Given the description of an element on the screen output the (x, y) to click on. 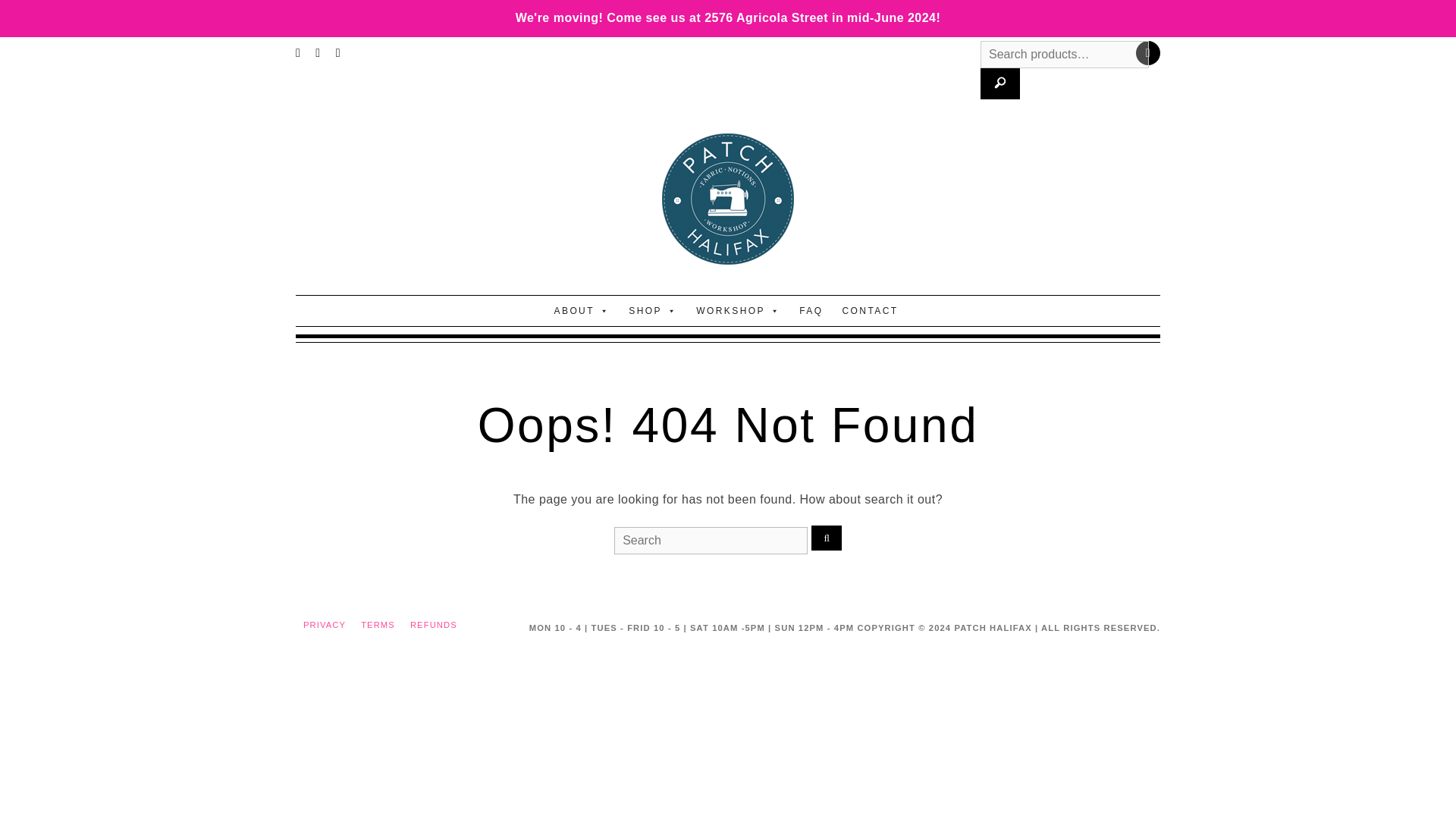
SHOP (652, 310)
Patch Halifax (727, 198)
ABOUT (582, 310)
View your shopping cart (1147, 52)
